Given the description of an element on the screen output the (x, y) to click on. 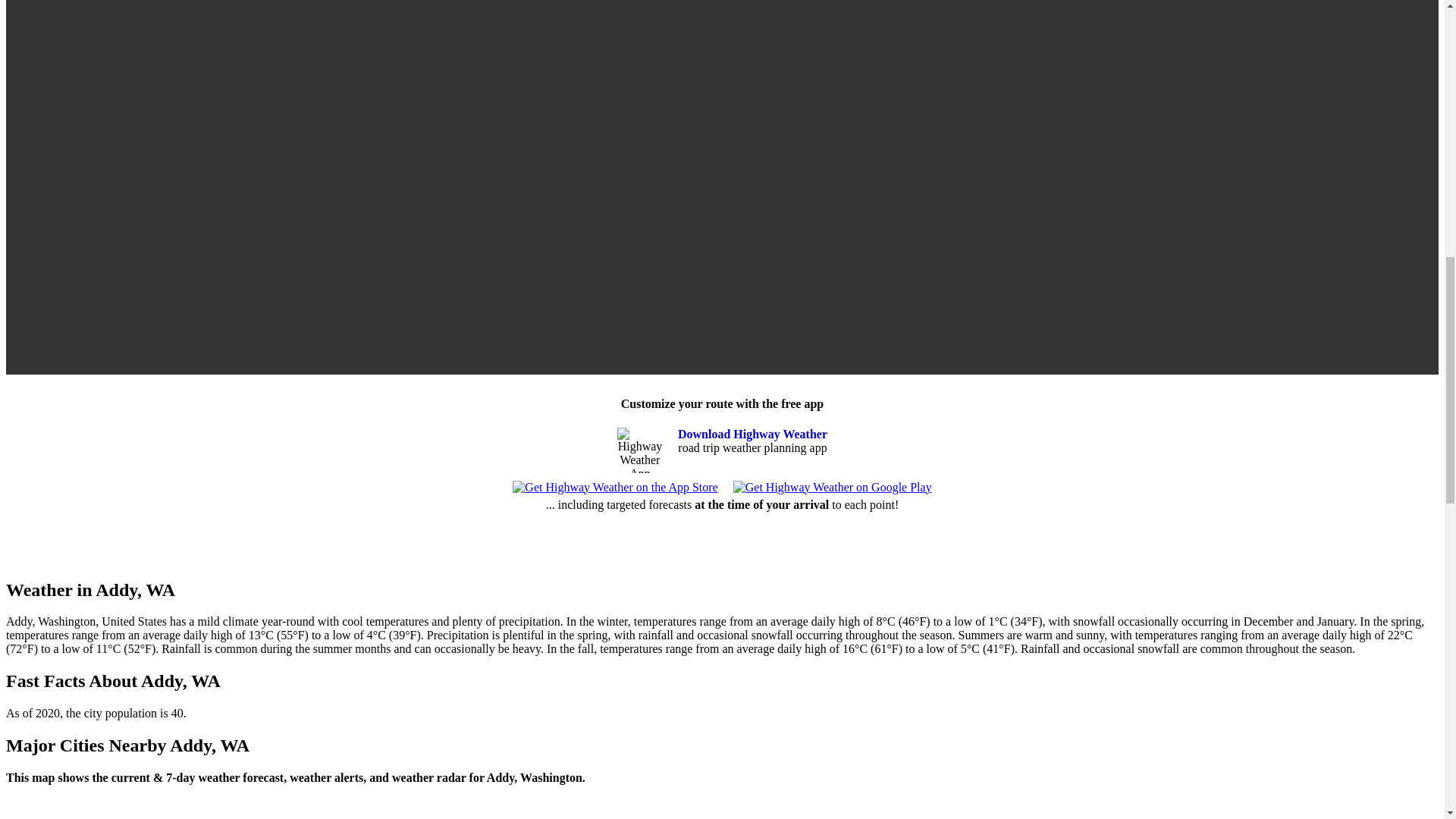
Highway Weather App (639, 450)
Get Highway Weather on Google Play (832, 487)
Get Highway Weather on the App Store (614, 487)
